Given the description of an element on the screen output the (x, y) to click on. 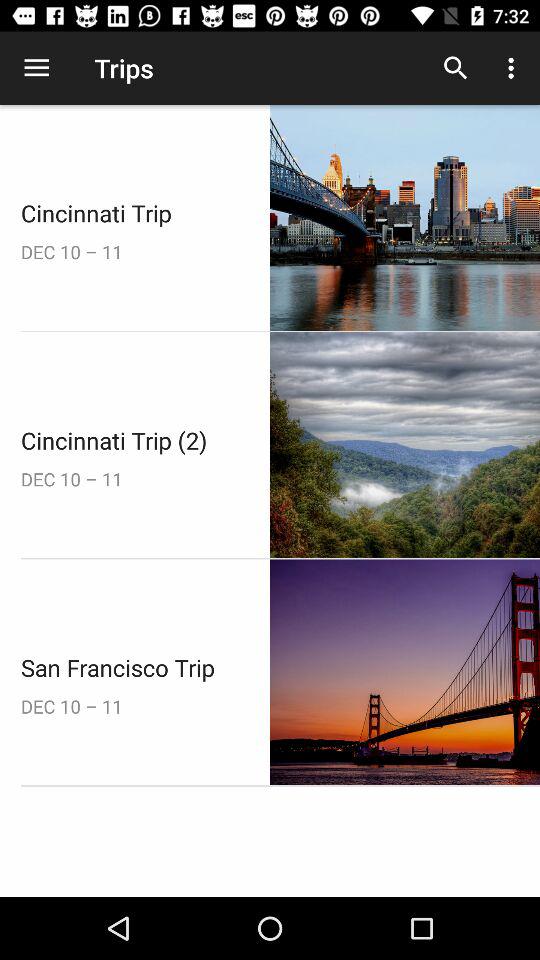
tap icon above the cincinnati trip (36, 68)
